Given the description of an element on the screen output the (x, y) to click on. 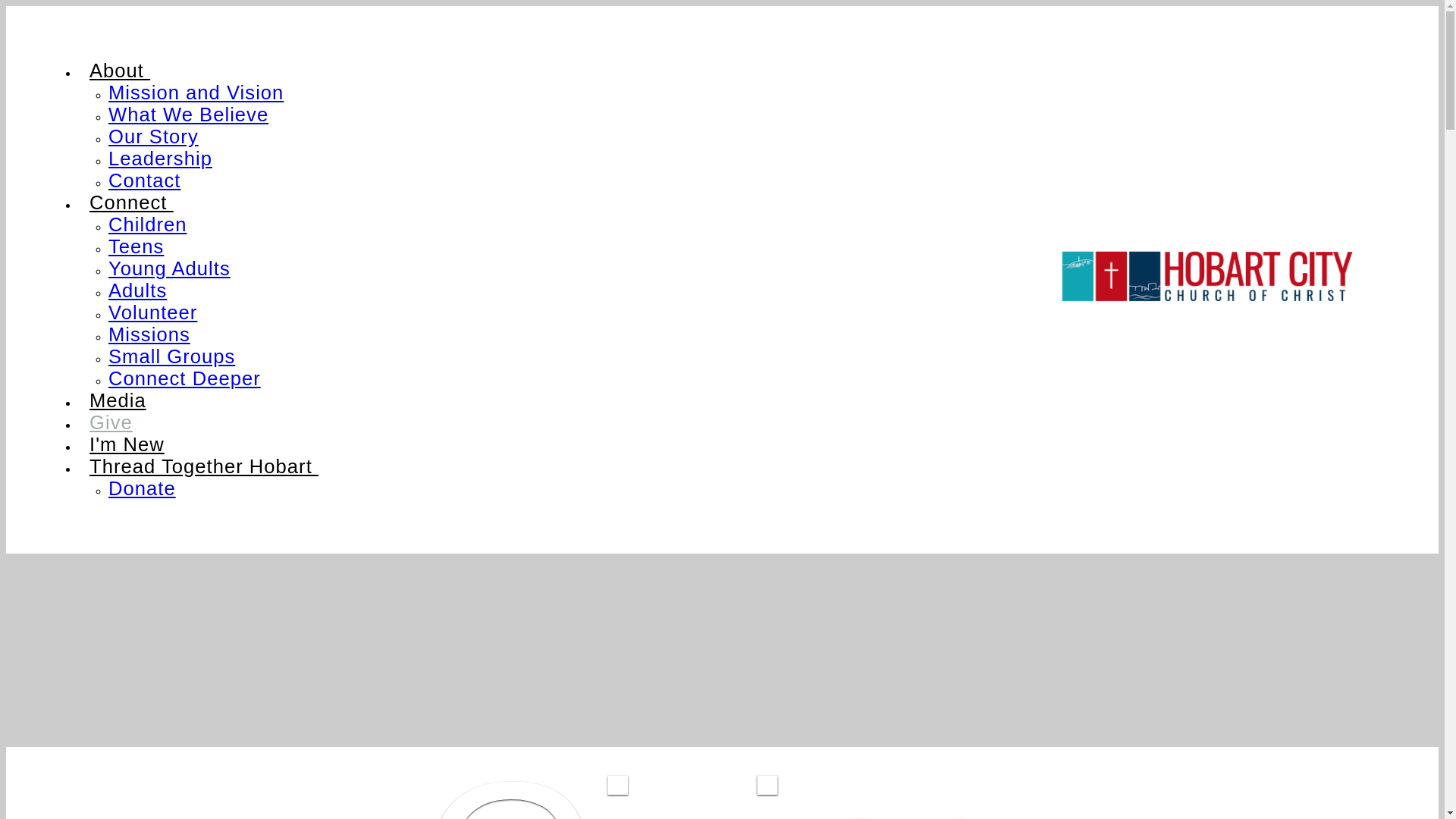
Donate Element type: text (141, 487)
I'm New Element type: text (126, 444)
Our Story Element type: text (153, 136)
Children Element type: text (147, 224)
Give Element type: text (111, 422)
What We Believe Element type: text (188, 114)
Media Element type: text (117, 400)
Contact Element type: text (144, 180)
Small Groups Element type: text (171, 356)
Volunteer Element type: text (152, 312)
About  Element type: text (119, 70)
Young Adults Element type: text (169, 268)
Missions Element type: text (149, 334)
Connect Deeper Element type: text (184, 378)
Mission and Vision Element type: text (195, 92)
Adults Element type: text (137, 290)
Leadership Element type: text (160, 158)
Connect  Element type: text (131, 202)
Thread Together Hobart  Element type: text (203, 466)
Teens Element type: text (135, 246)
